Given the description of an element on the screen output the (x, y) to click on. 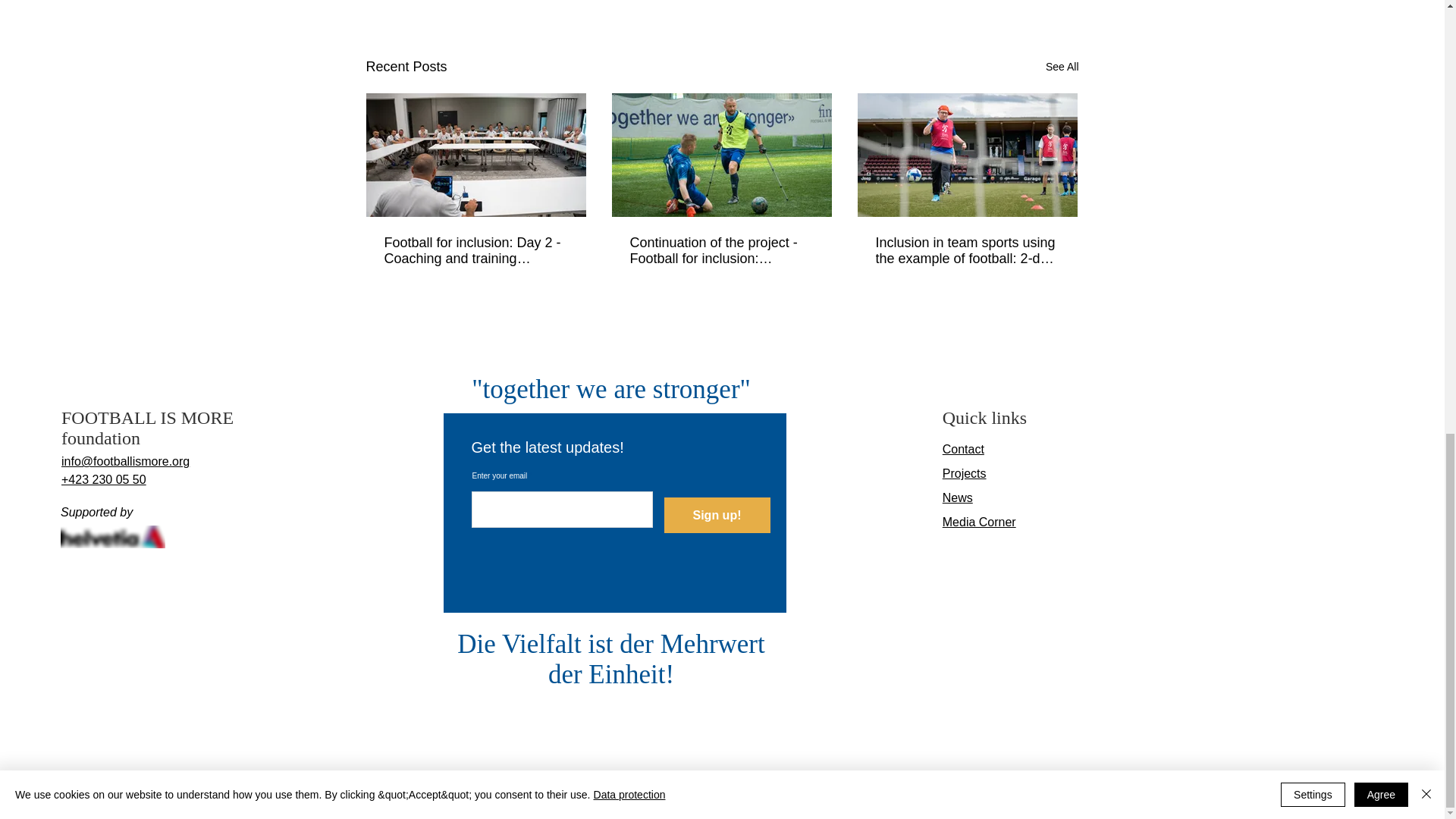
Imprint (737, 799)
Media Corner (979, 521)
See All (1061, 66)
Contact (963, 449)
Sign up! (716, 515)
News (957, 497)
Projects (964, 472)
Privacy Policy (791, 799)
